Given the description of an element on the screen output the (x, y) to click on. 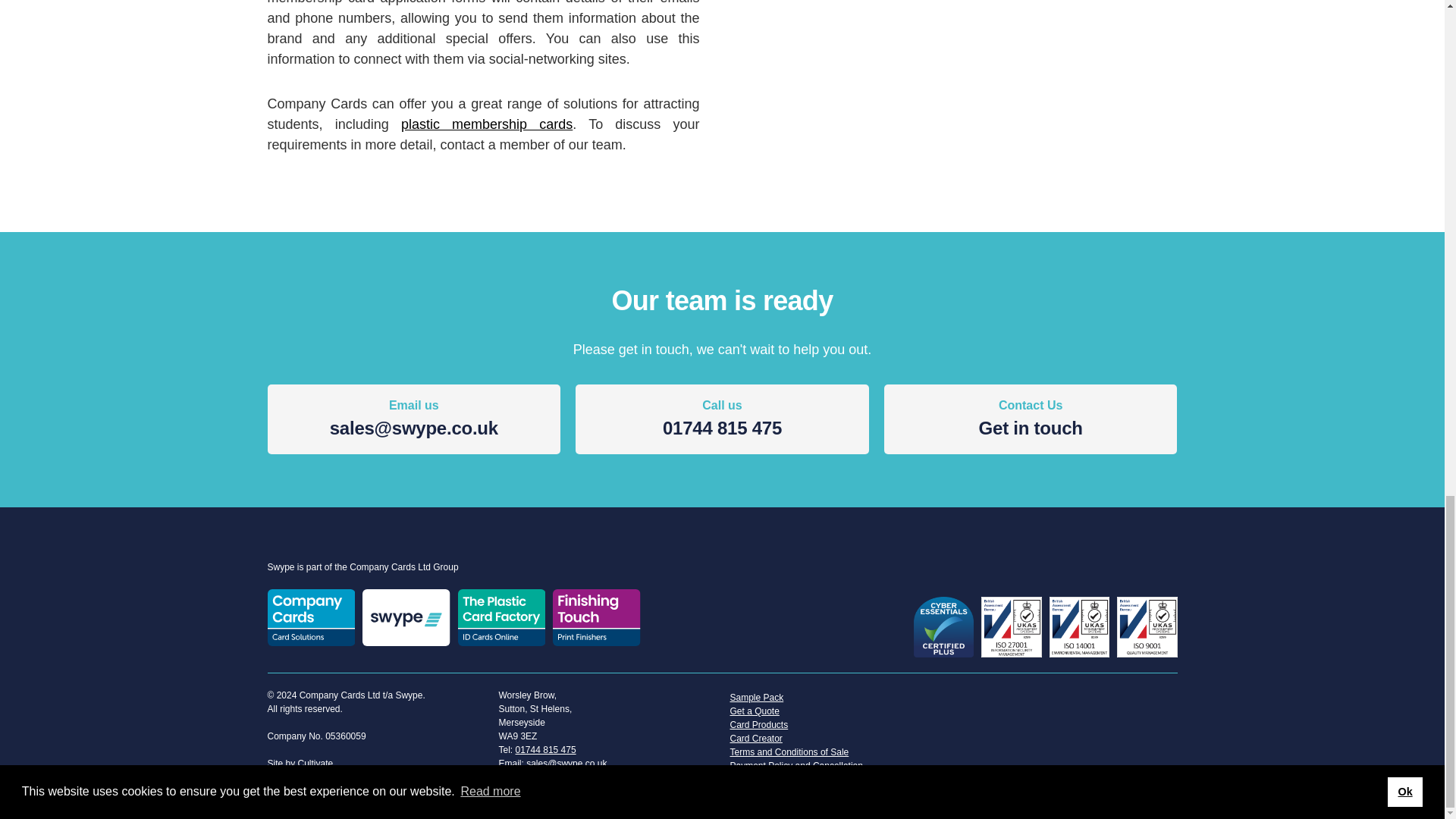
plastic membership cards (486, 124)
Terms and Conditions of Sale (836, 752)
Get a Quote (836, 711)
Web development St Helens (315, 763)
Sample Pack (836, 697)
Cultivate (722, 420)
Payment Policy and Cancellation (1031, 420)
01744 815 475 (315, 763)
Card Products (836, 766)
Card Creator (545, 749)
